Given the description of an element on the screen output the (x, y) to click on. 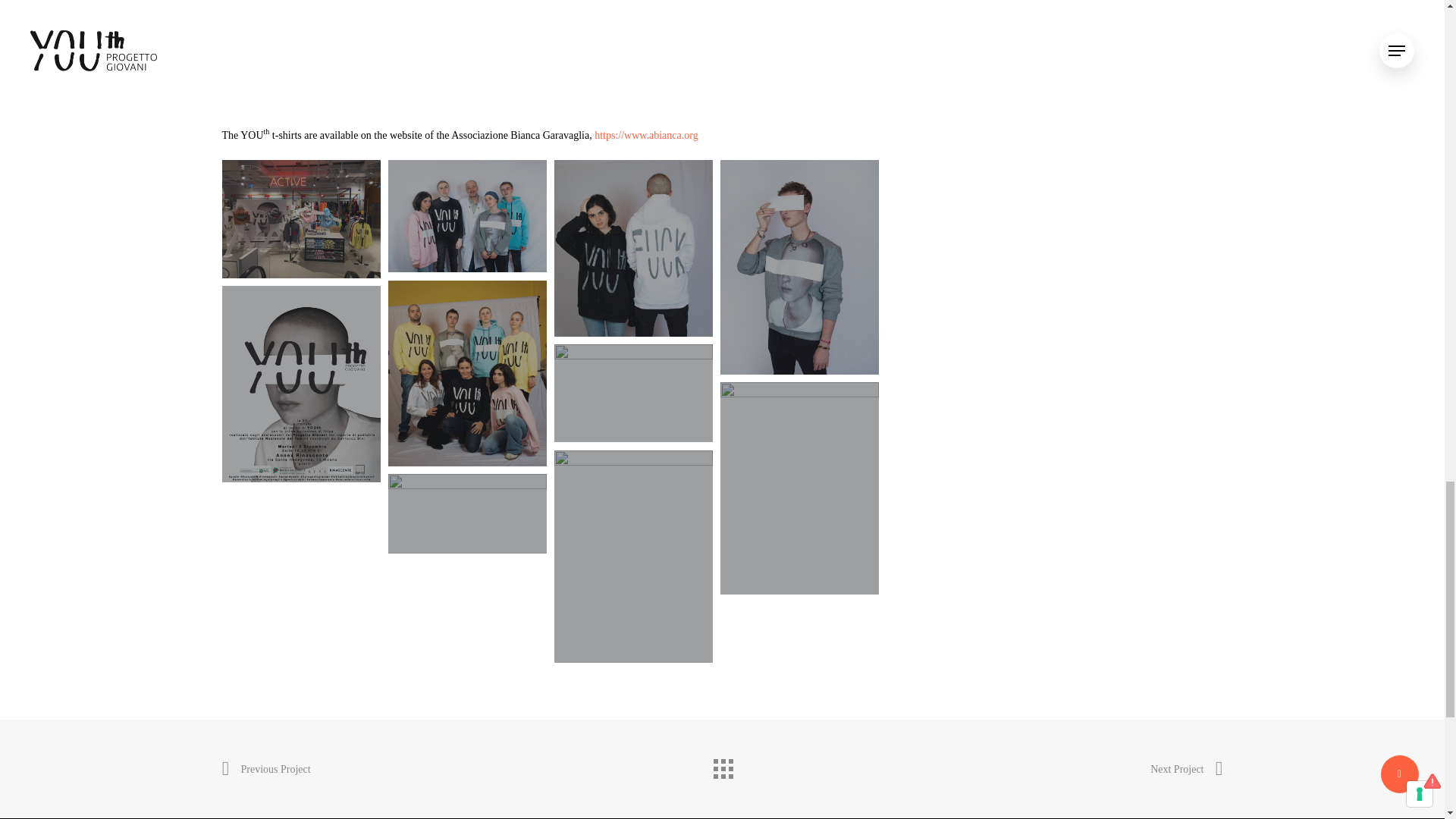
Back to all projects (721, 765)
Previous Project (265, 769)
T-Shirt YOUth (550, 51)
Next Project (1186, 769)
